Given the description of an element on the screen output the (x, y) to click on. 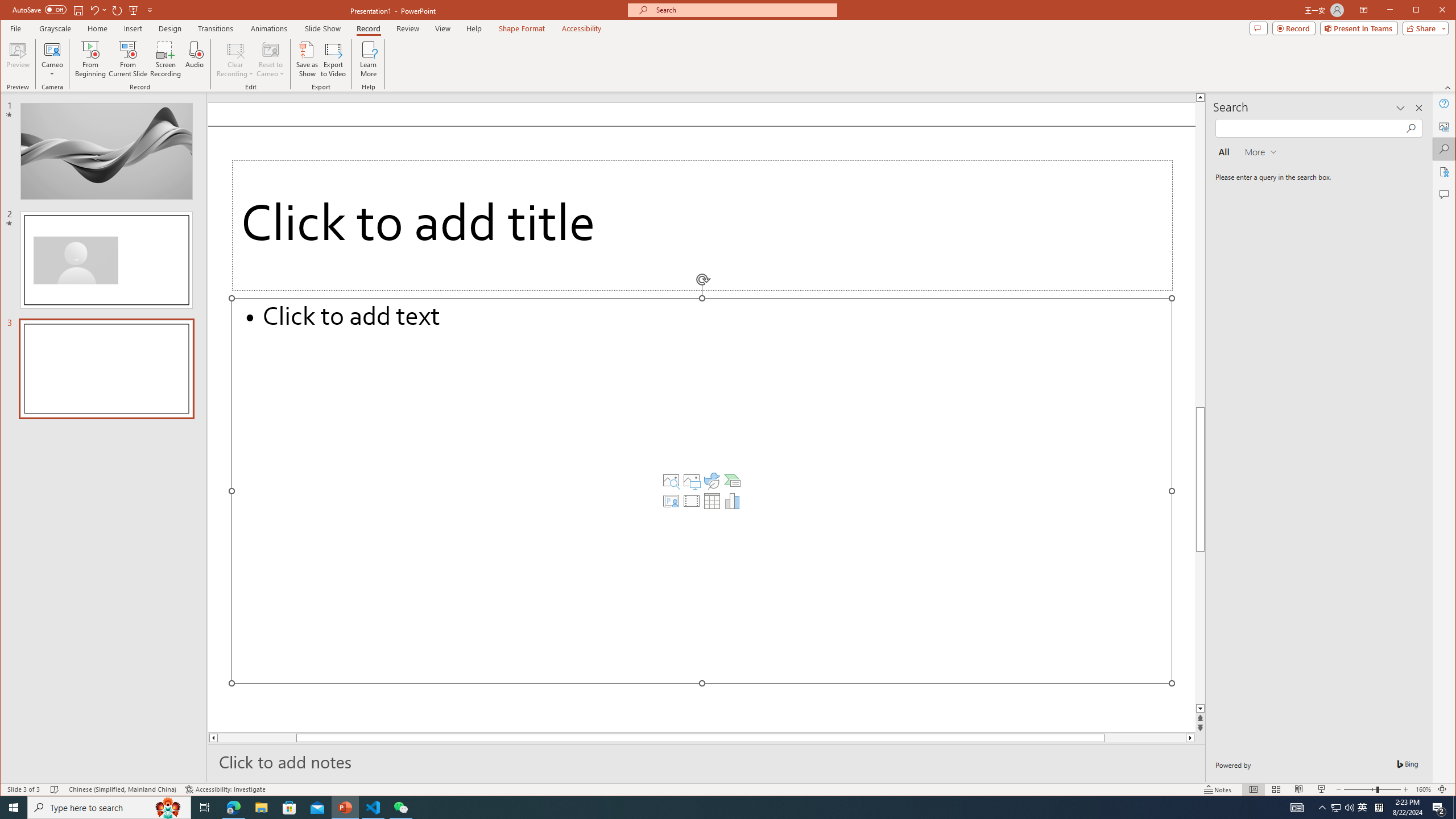
Insert Table (711, 501)
Running applications (707, 807)
From Beginning... (90, 59)
